Given the description of an element on the screen output the (x, y) to click on. 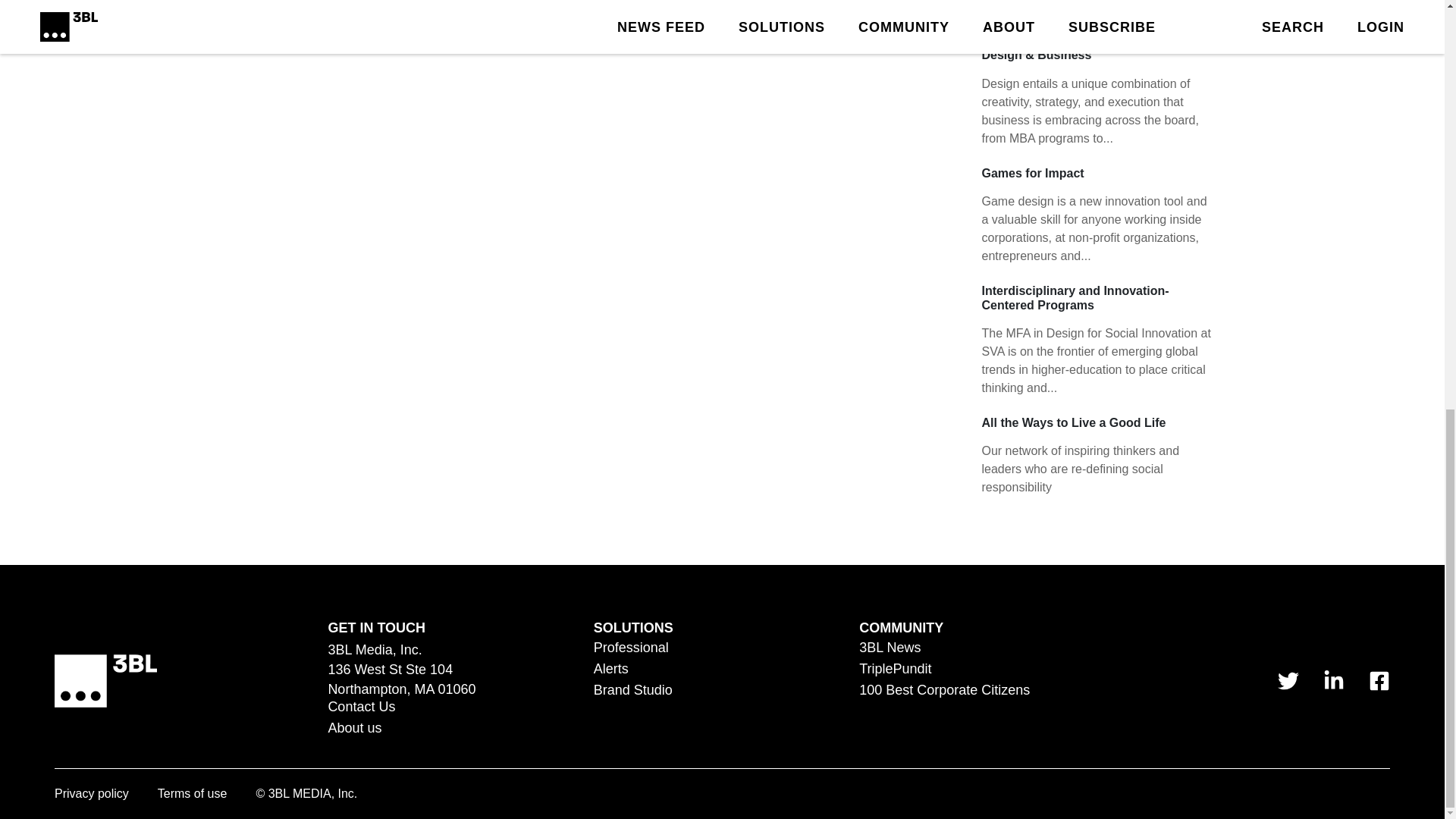
link to 3 B L Media's Twitter (1288, 680)
link to 3 B L Media's Linkedin (1333, 680)
link to 3 B L Media's Facebook (1379, 680)
